Given the description of an element on the screen output the (x, y) to click on. 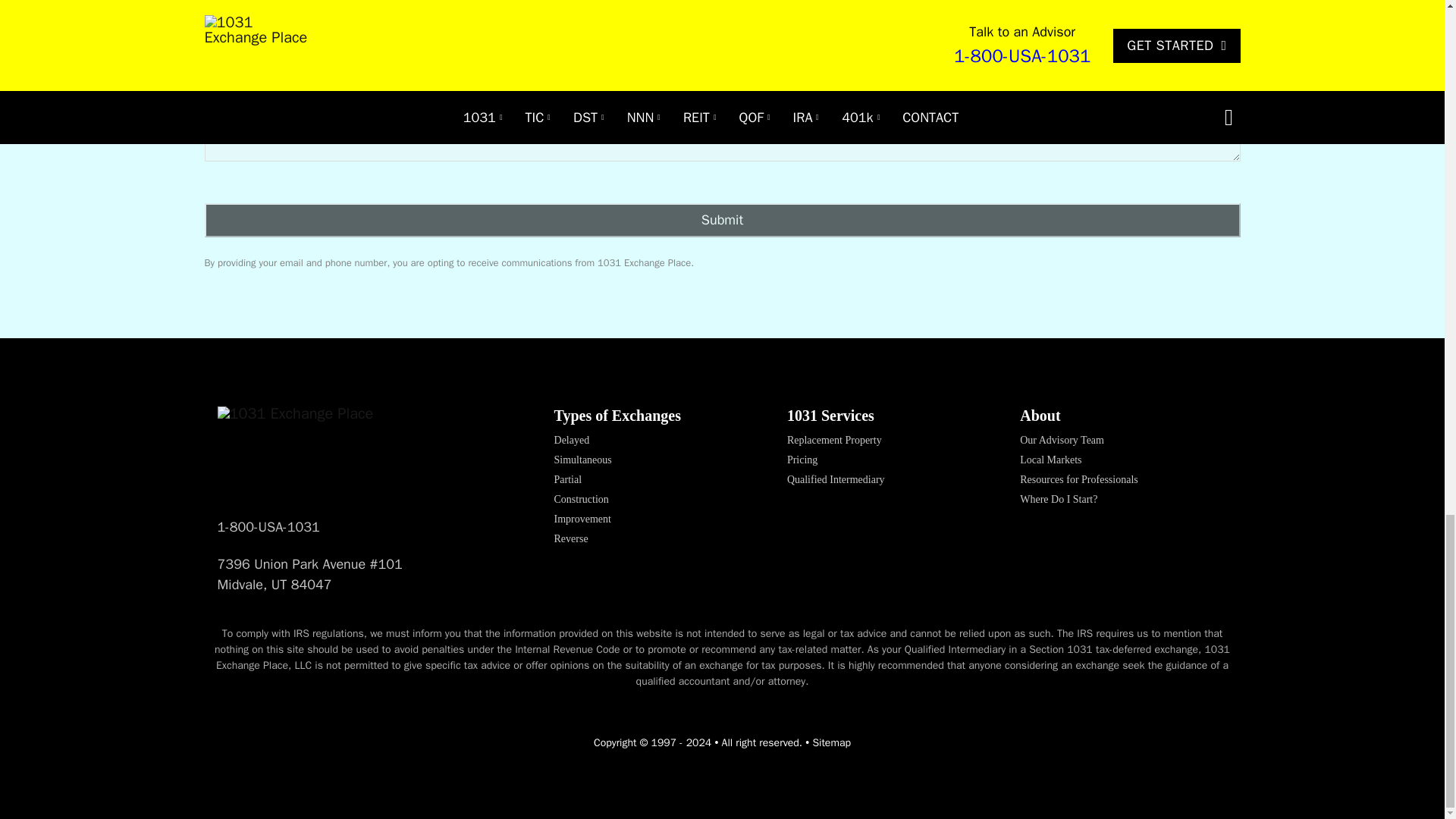
Submit (722, 220)
Email (931, 33)
